Given the description of an element on the screen output the (x, y) to click on. 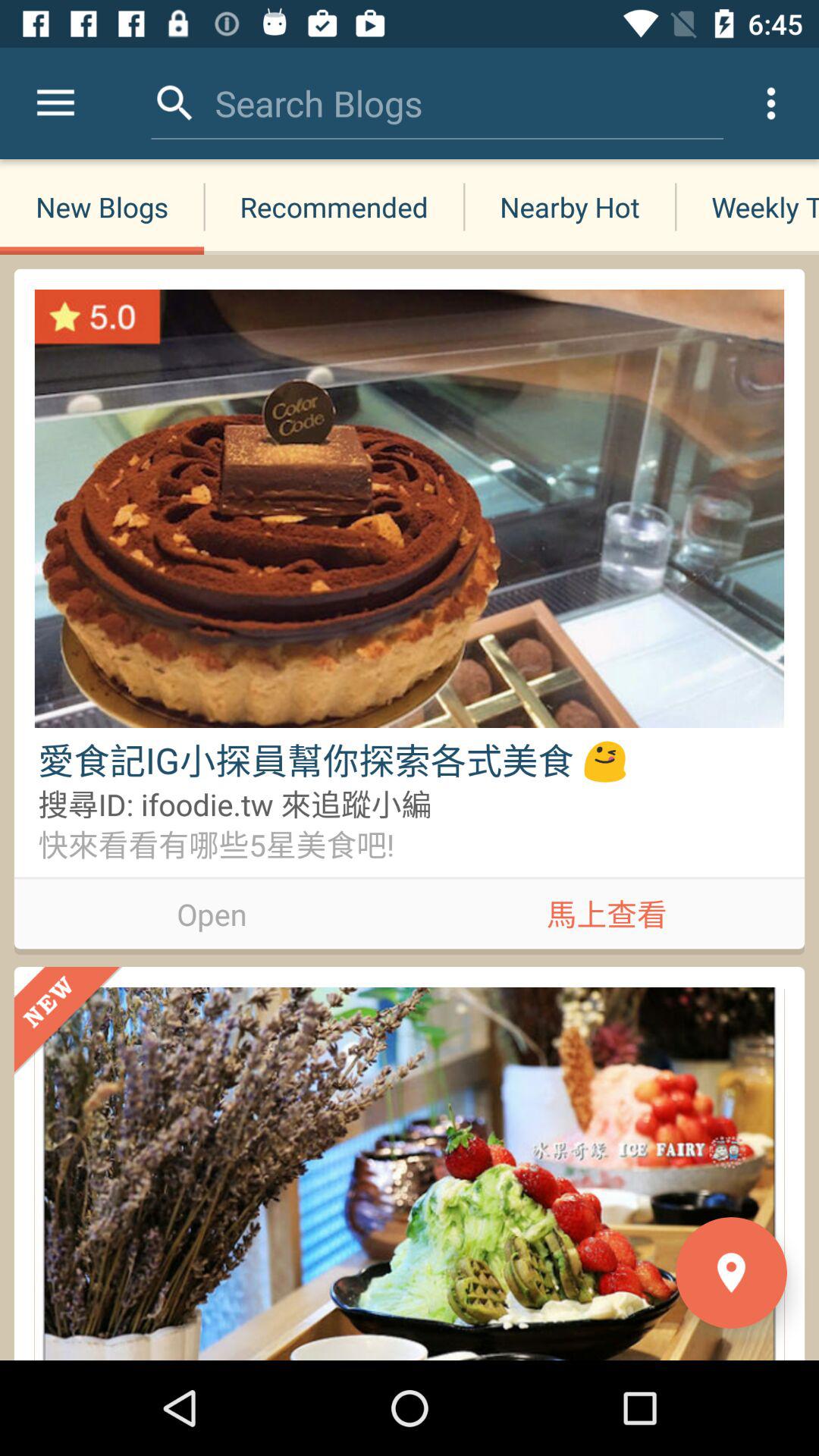
scroll to search blogs (318, 103)
